Given the description of an element on the screen output the (x, y) to click on. 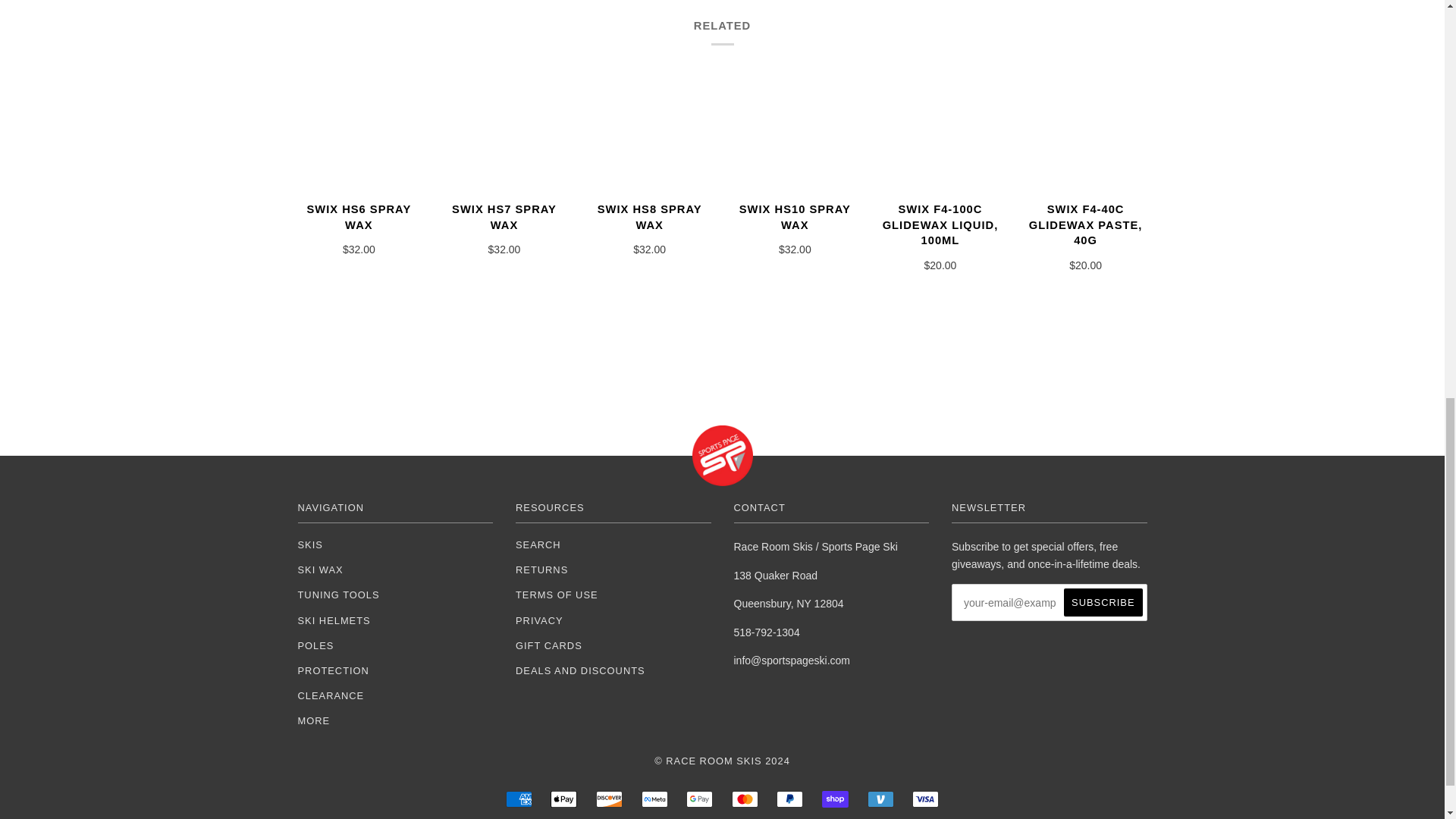
GOOGLE PAY (699, 799)
META PAY (655, 799)
PAYPAL (789, 799)
SHOP PAY (835, 799)
Subscribe (1102, 602)
APPLE PAY (563, 799)
VISA (925, 799)
DISCOVER (609, 799)
VENMO (880, 799)
MASTERCARD (745, 799)
AMERICAN EXPRESS (518, 799)
